Given the description of an element on the screen output the (x, y) to click on. 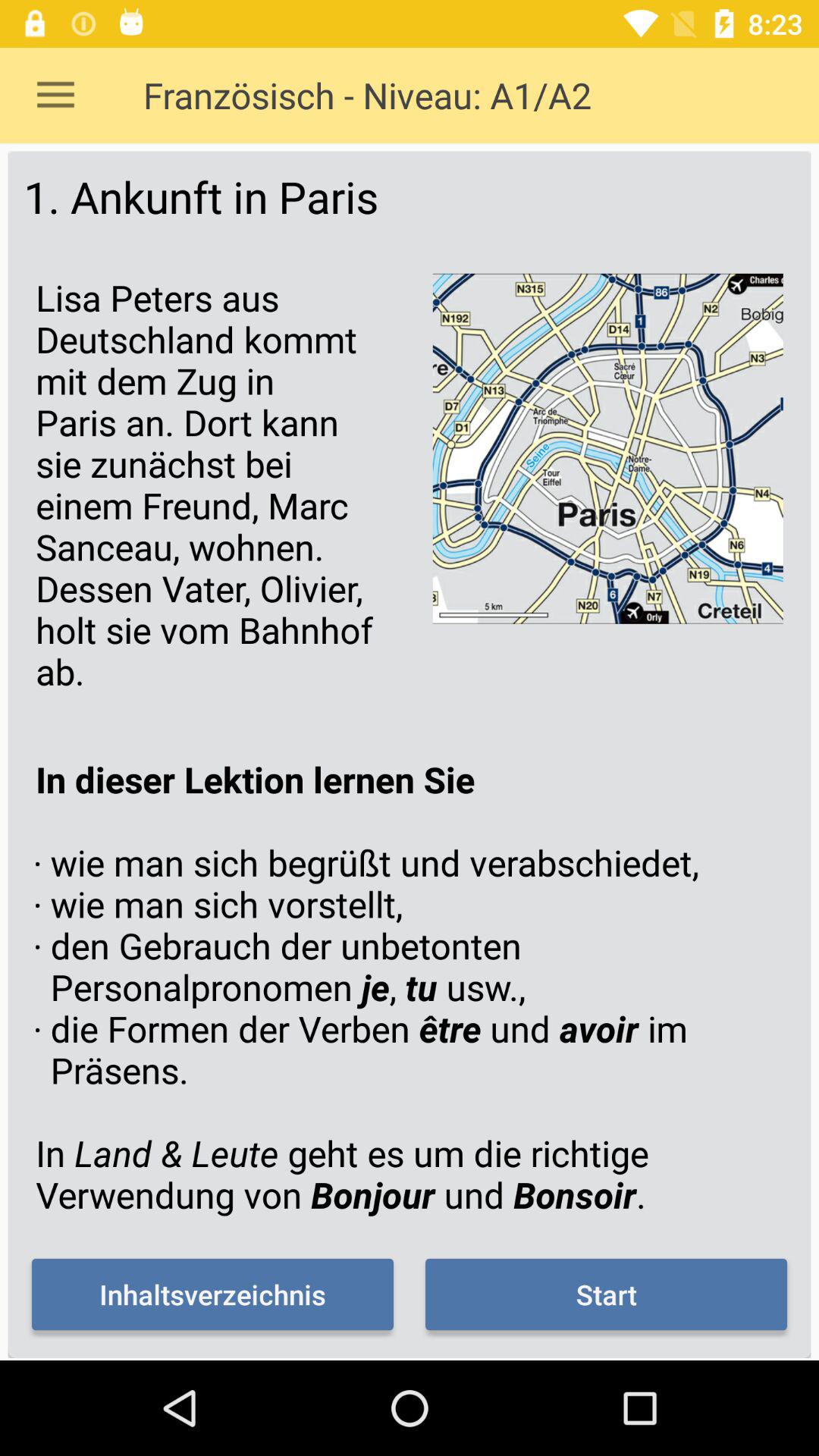
click icon next to inhaltsverzeichnis item (606, 1294)
